Given the description of an element on the screen output the (x, y) to click on. 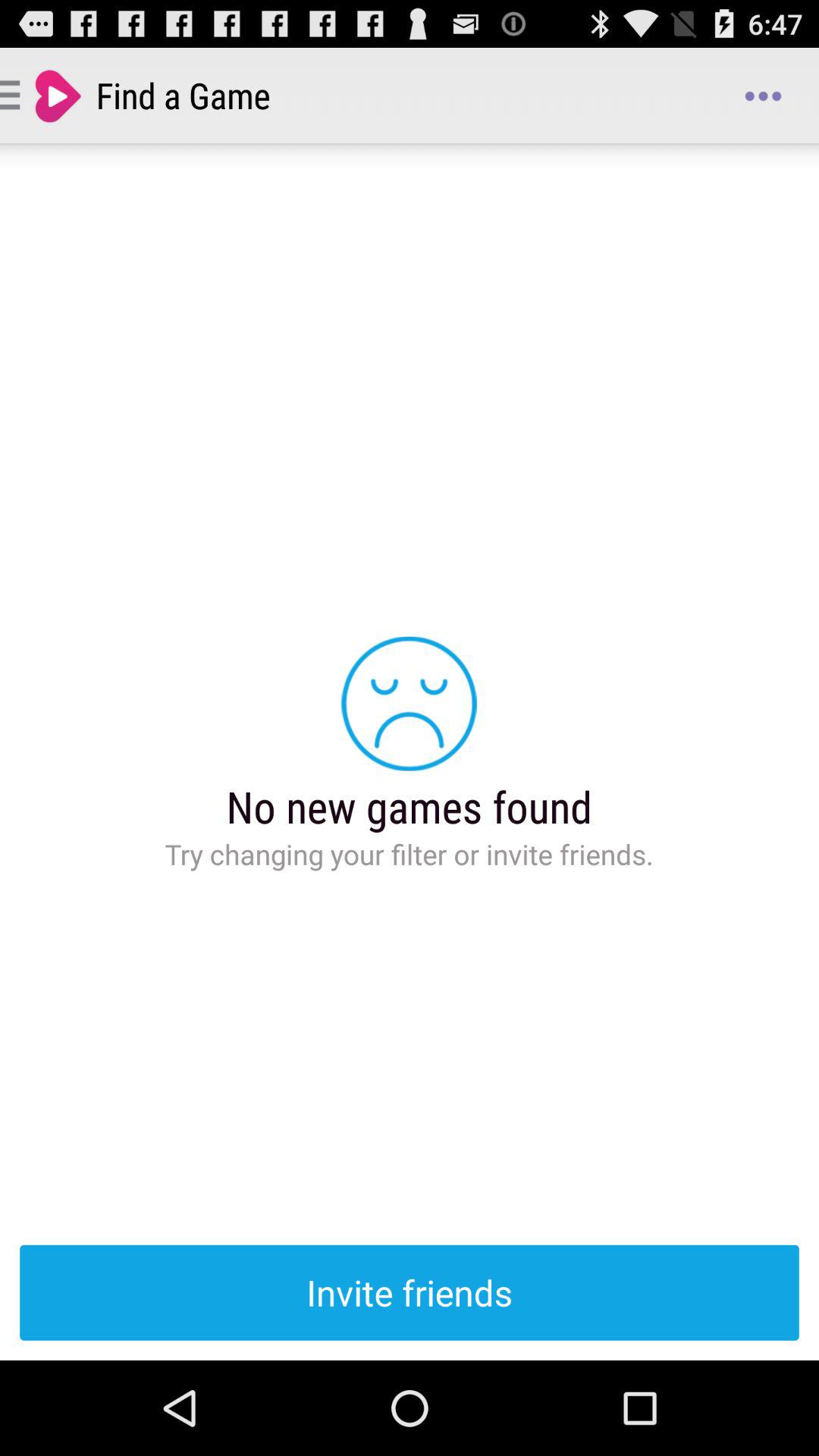
click icon to the right of find a game app (763, 95)
